Given the description of an element on the screen output the (x, y) to click on. 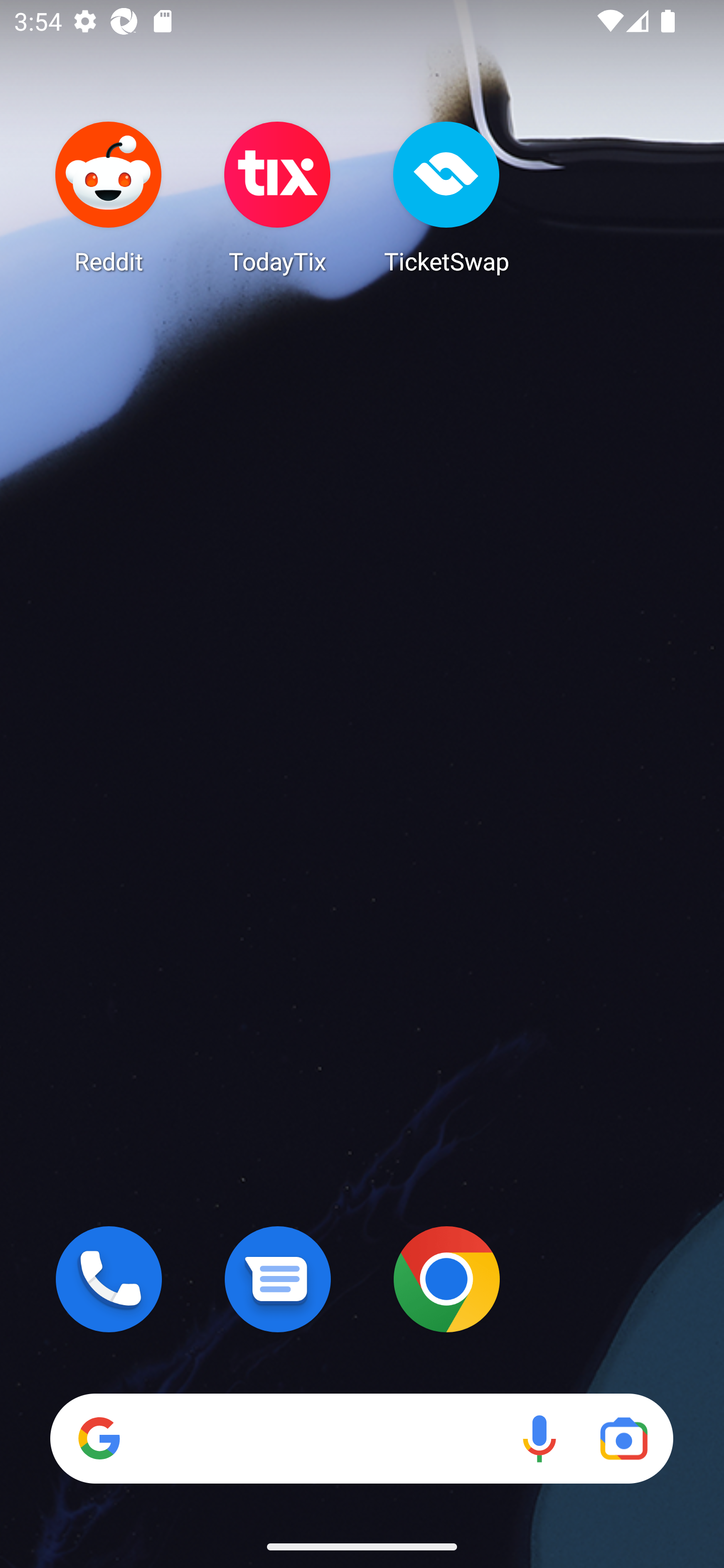
Reddit (108, 196)
TodayTix (277, 196)
TicketSwap (445, 196)
Phone (108, 1279)
Messages (277, 1279)
Chrome (446, 1279)
Voice search (539, 1438)
Google Lens (623, 1438)
